Given the description of an element on the screen output the (x, y) to click on. 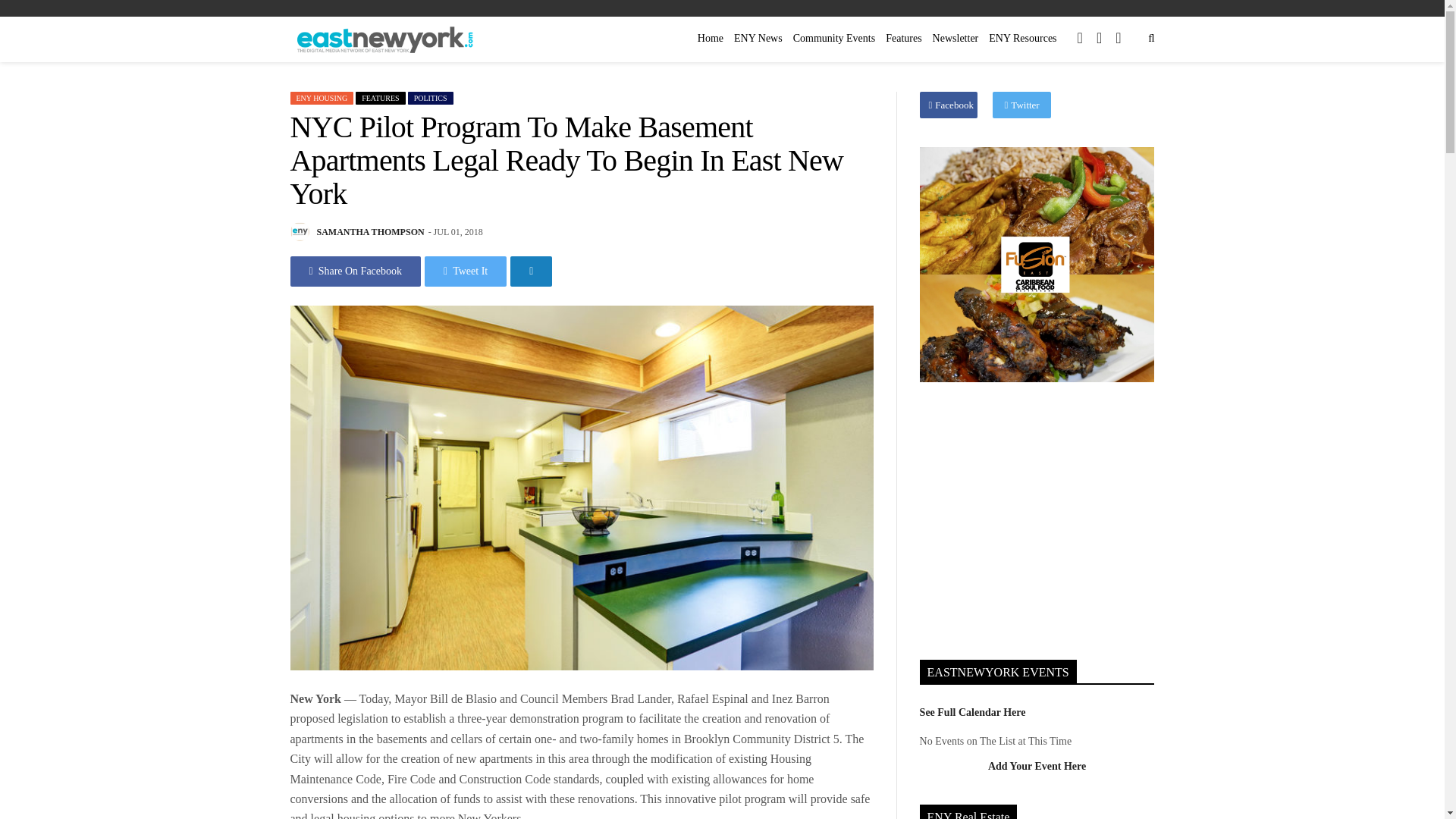
Community Events (833, 38)
Newsletter (955, 38)
Posts by Samantha Thompson (371, 231)
Home (711, 38)
Features (903, 38)
ENY Resources (1022, 38)
ENY News (758, 38)
